Given the description of an element on the screen output the (x, y) to click on. 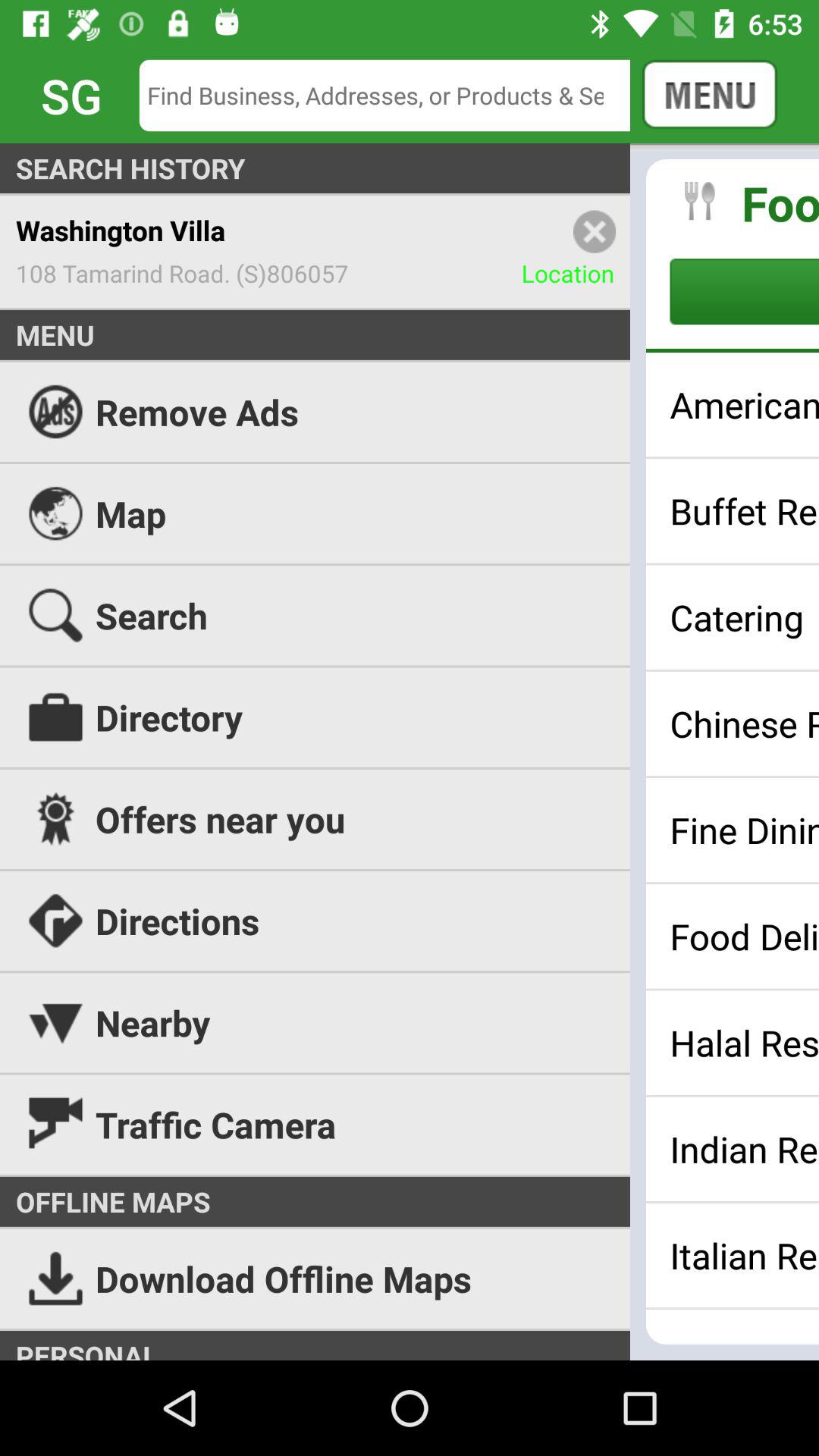
select item above the nearby icon (409, 920)
